Given the description of an element on the screen output the (x, y) to click on. 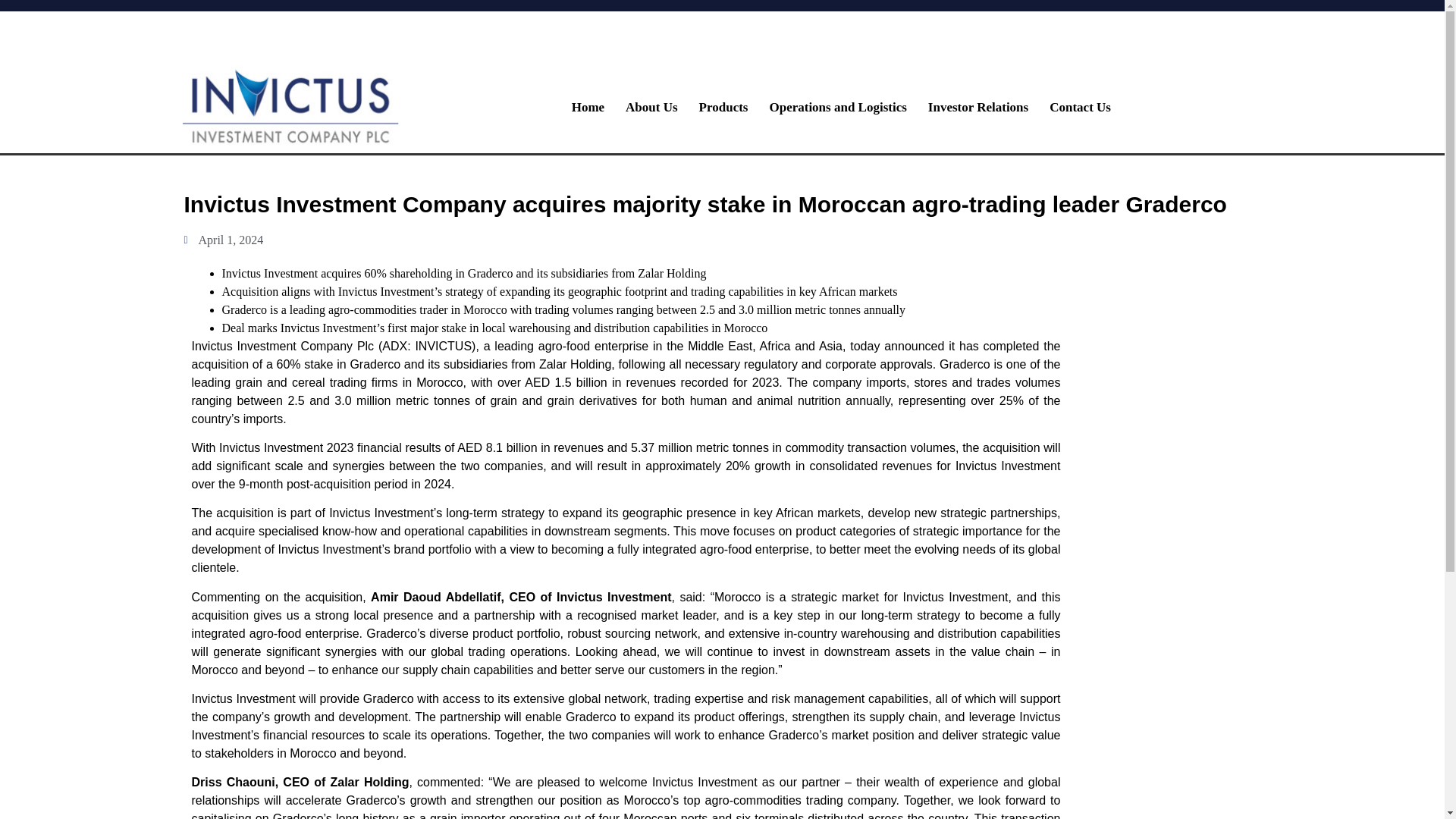
Contact Us (1080, 107)
April 1, 2024 (223, 239)
About Us (651, 107)
Products (723, 107)
Operations and Logistics (837, 107)
Home (587, 107)
Investor Relations (978, 107)
